Given the description of an element on the screen output the (x, y) to click on. 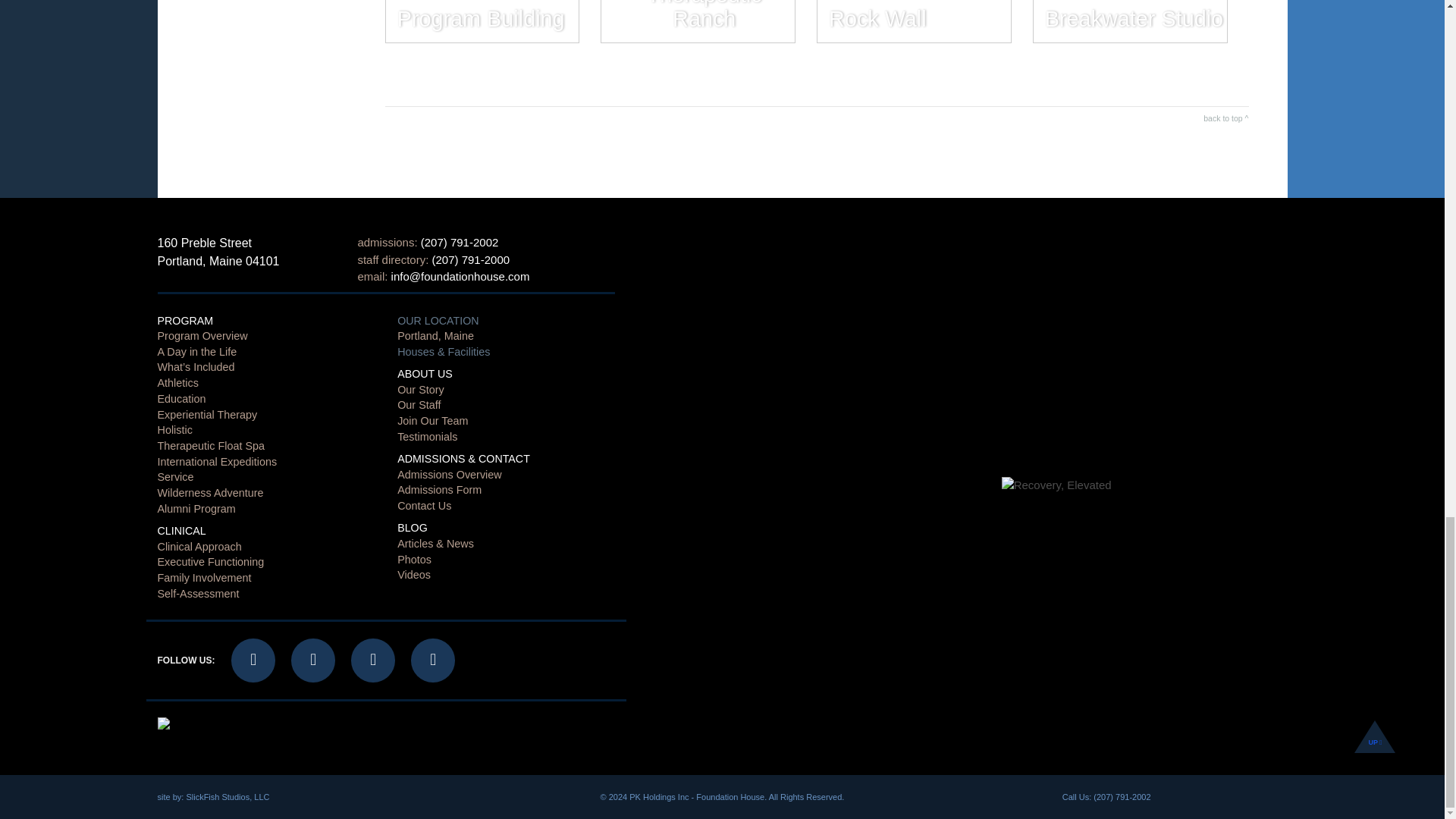
Follow Foundation House on Facebook (253, 660)
A creative Maine website design company. (227, 796)
Click for the Foundation House Vimeo page (372, 660)
Watch videos on the Foundation House YouTube Channel (432, 660)
Visit the Foundation House on Instagram (312, 660)
